Given the description of an element on the screen output the (x, y) to click on. 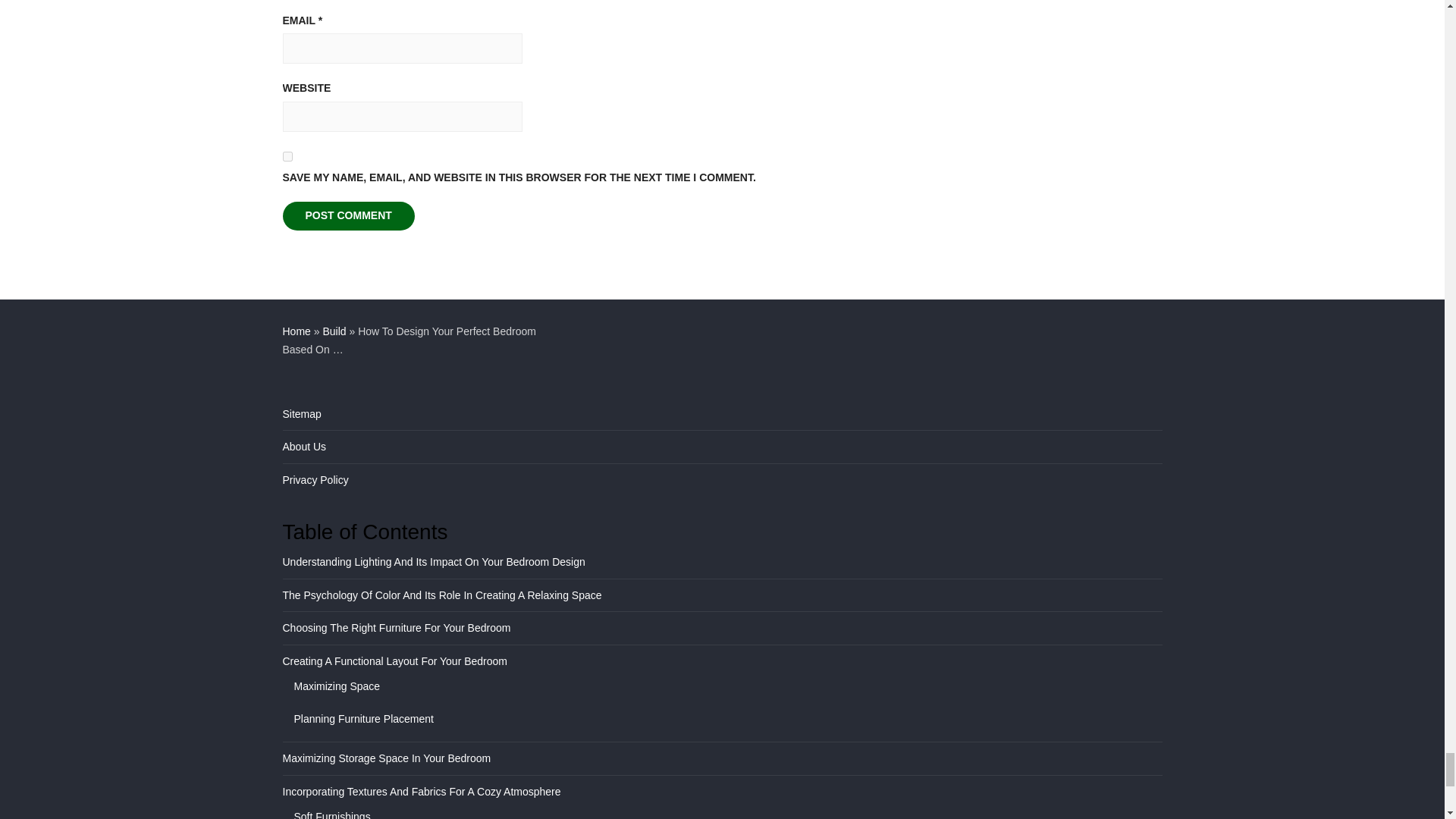
Post Comment (347, 215)
yes (287, 156)
